Given the description of an element on the screen output the (x, y) to click on. 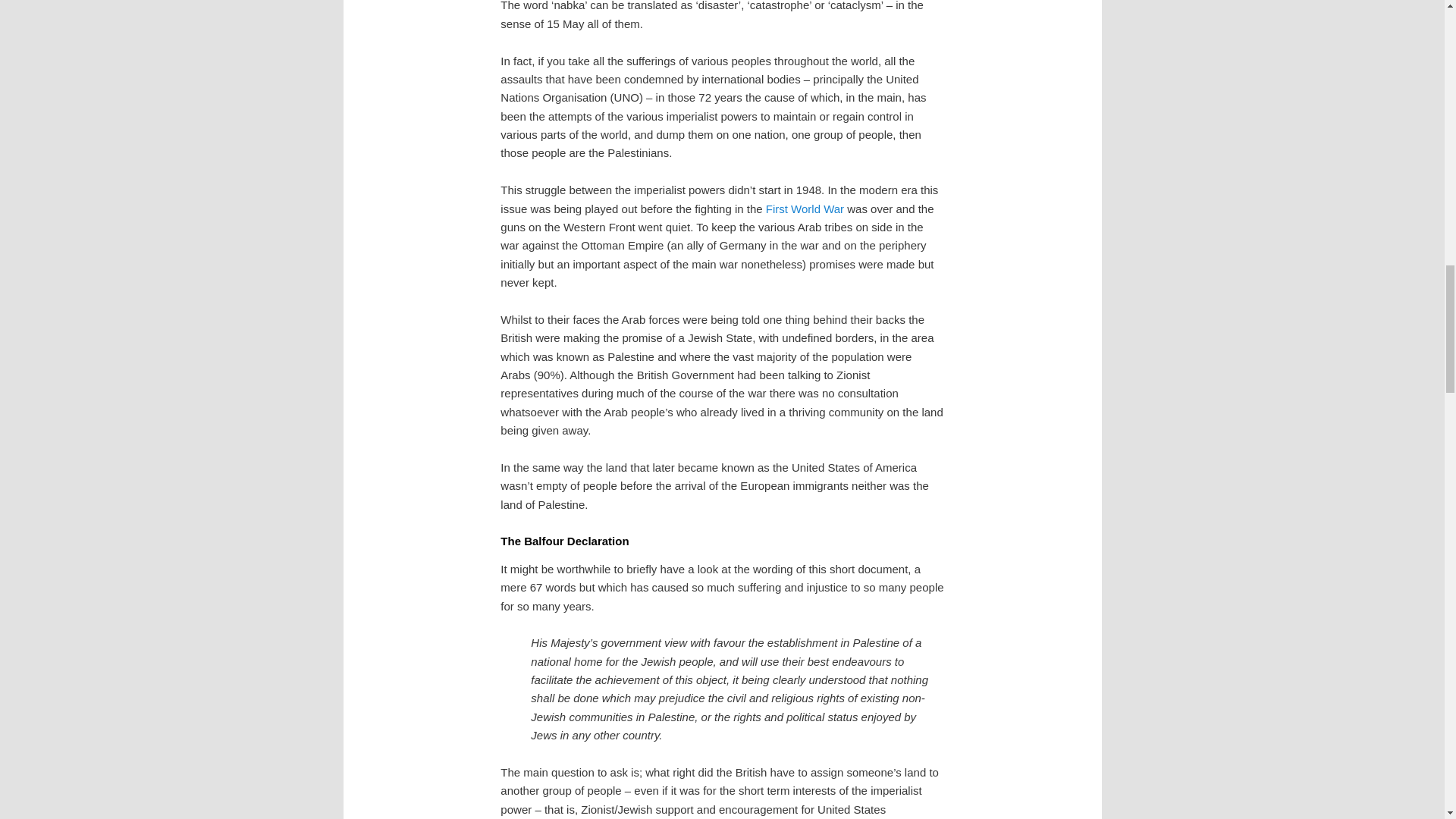
First World War (804, 208)
